Given the description of an element on the screen output the (x, y) to click on. 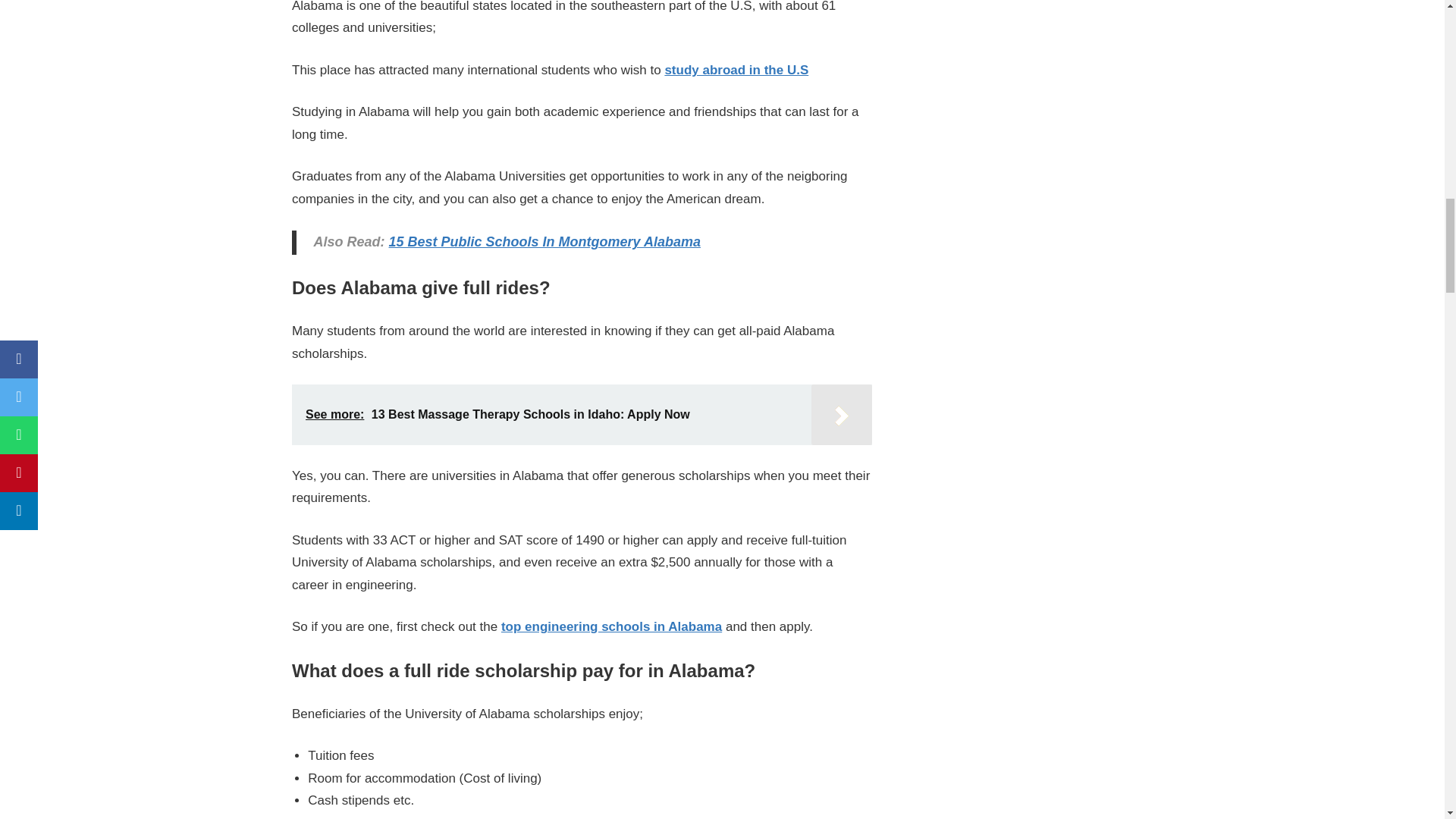
15 Best Public Schools In Montgomery Alabama (544, 241)
study abroad in the U.S (735, 69)
top engineering schools in Alabama (611, 626)
